Given the description of an element on the screen output the (x, y) to click on. 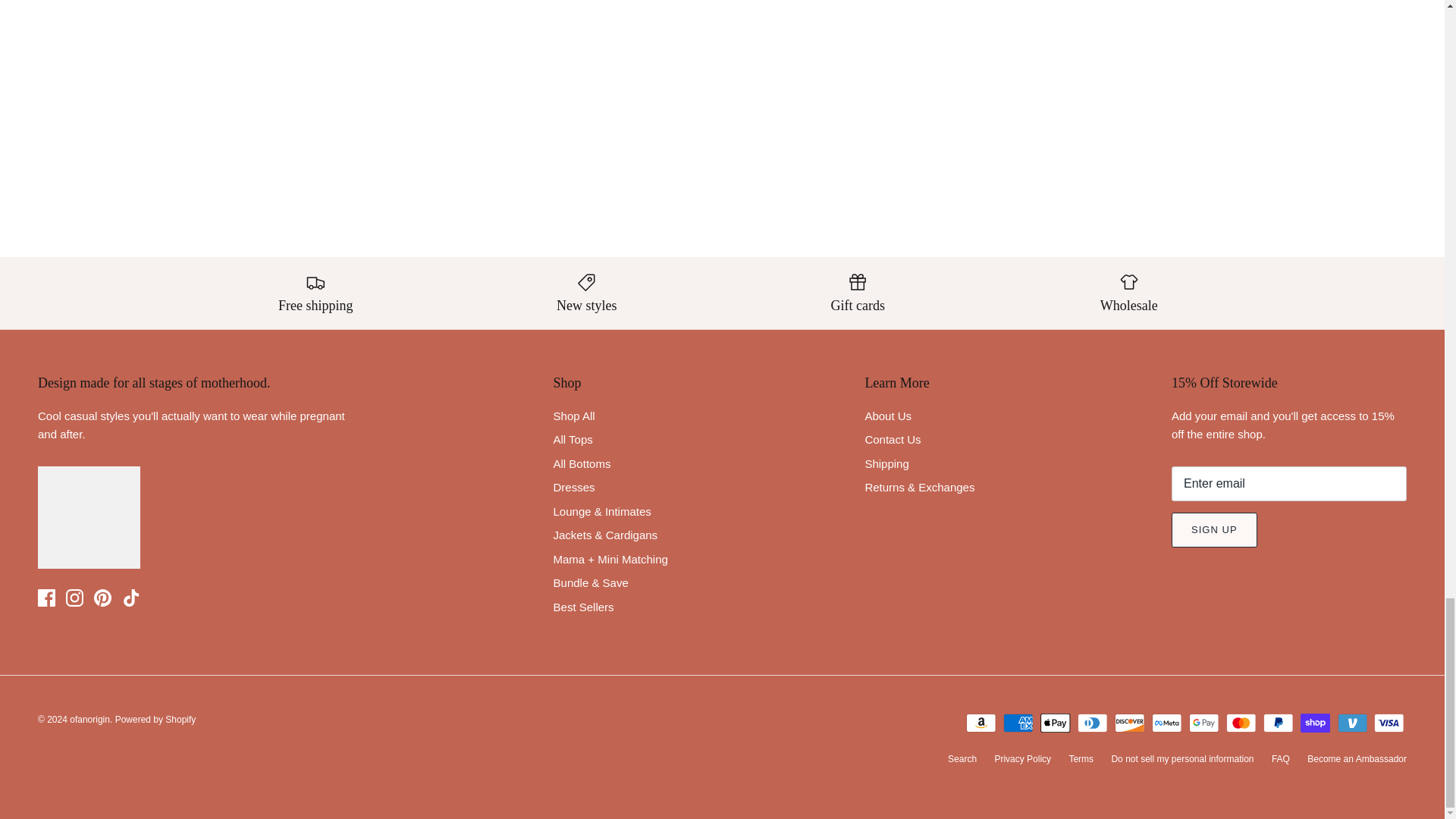
American Express (1018, 722)
Instagram (73, 597)
Mastercard (1240, 722)
Meta Pay (1166, 722)
Apple Pay (1055, 722)
Pinterest (103, 597)
Amazon (980, 722)
Discover (1129, 722)
Google Pay (1203, 722)
Facebook (46, 597)
